Given the description of an element on the screen output the (x, y) to click on. 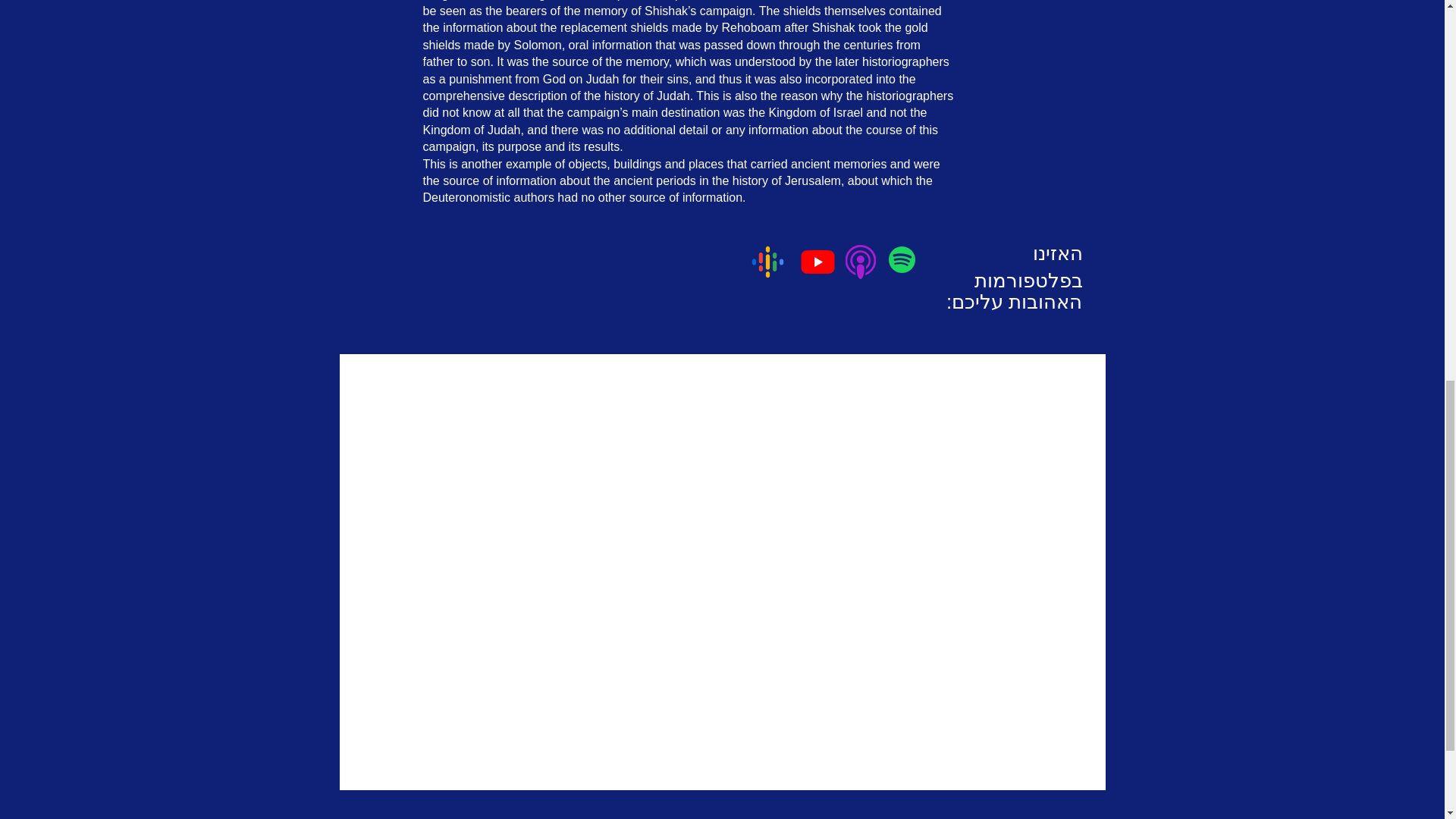
Youtube (817, 261)
Google podcast (767, 261)
Spotify (901, 259)
